Given the description of an element on the screen output the (x, y) to click on. 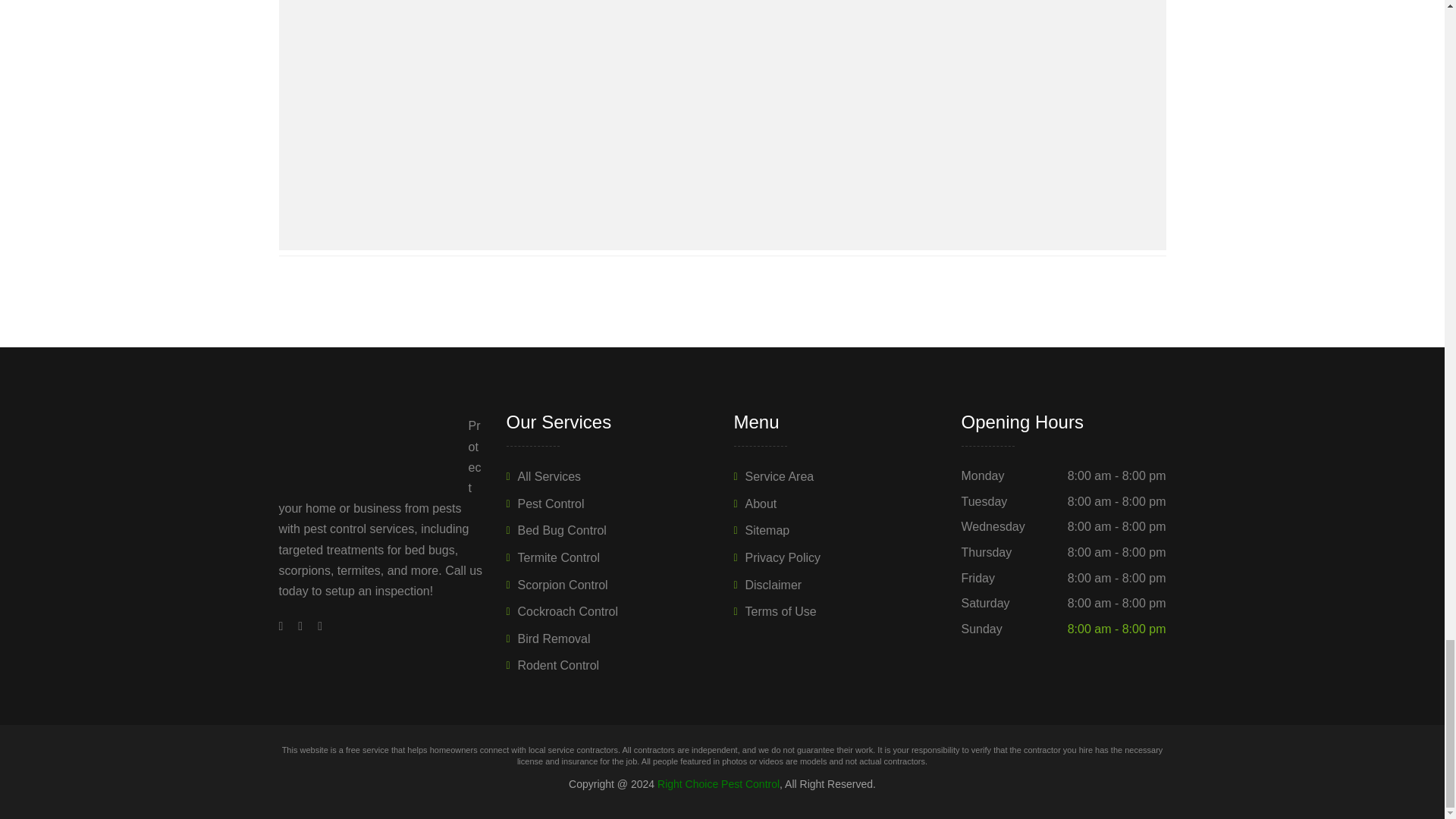
Facebook (285, 625)
Youtube (299, 625)
RSS (315, 625)
